Given the description of an element on the screen output the (x, y) to click on. 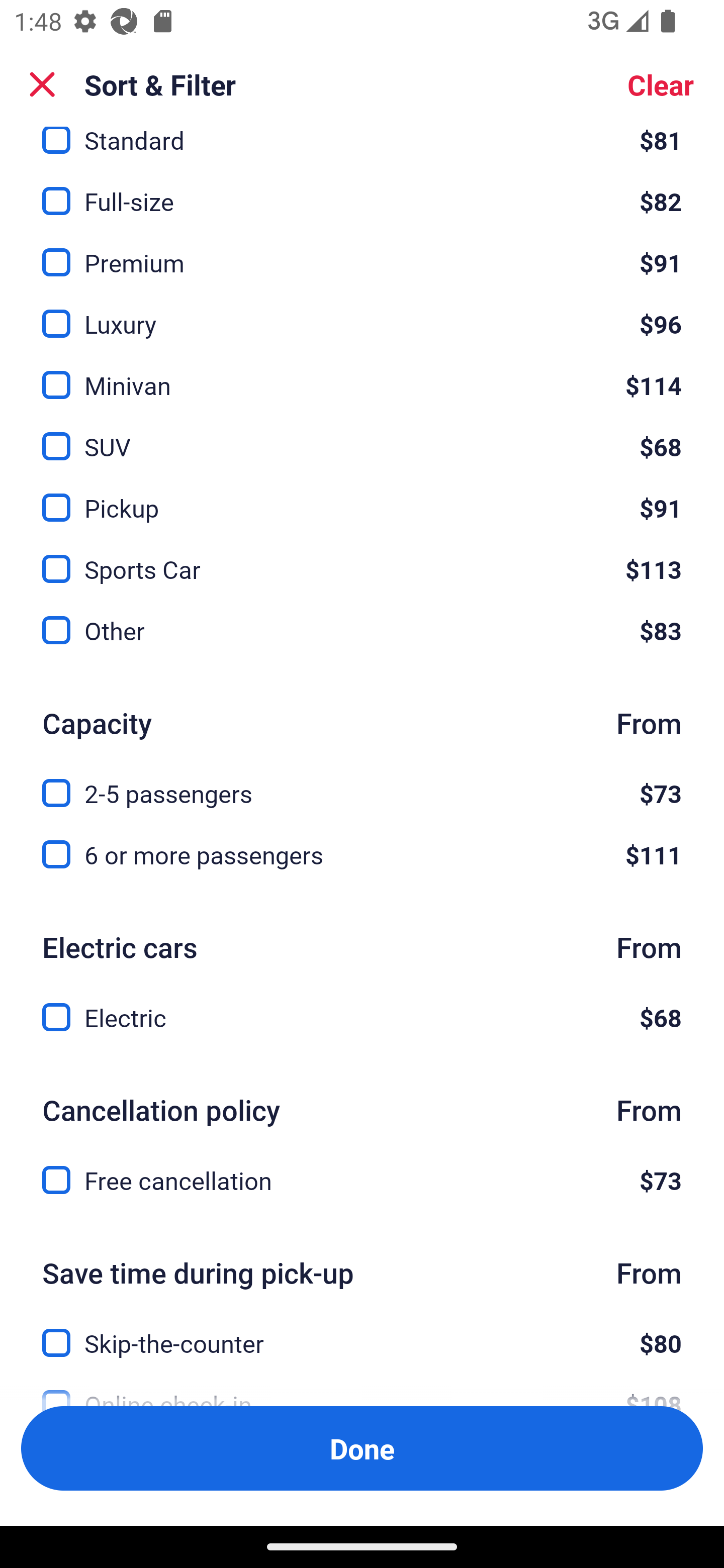
Close Sort and Filter (42, 84)
Clear (660, 84)
Standard, $81 Standard $81 (361, 143)
Full-size, $82 Full-size $82 (361, 190)
Premium, $91 Premium $91 (361, 251)
Luxury, $96 Luxury $96 (361, 312)
Minivan, $114 Minivan $114 (361, 373)
SUV, $68 SUV $68 (361, 434)
Pickup, $91 Pickup $91 (361, 495)
Sports Car, $113 Sports Car $113 (361, 557)
Other, $83 Other $83 (361, 630)
2-5 passengers, $73 2-5 passengers $73 (361, 781)
Electric, $68 Electric $68 (361, 1017)
Free cancellation, $73 Free cancellation $73 (361, 1180)
Skip-the-counter, $80 Skip-the-counter $80 (361, 1331)
Apply and close Sort and Filter Done (361, 1448)
